Given the description of an element on the screen output the (x, y) to click on. 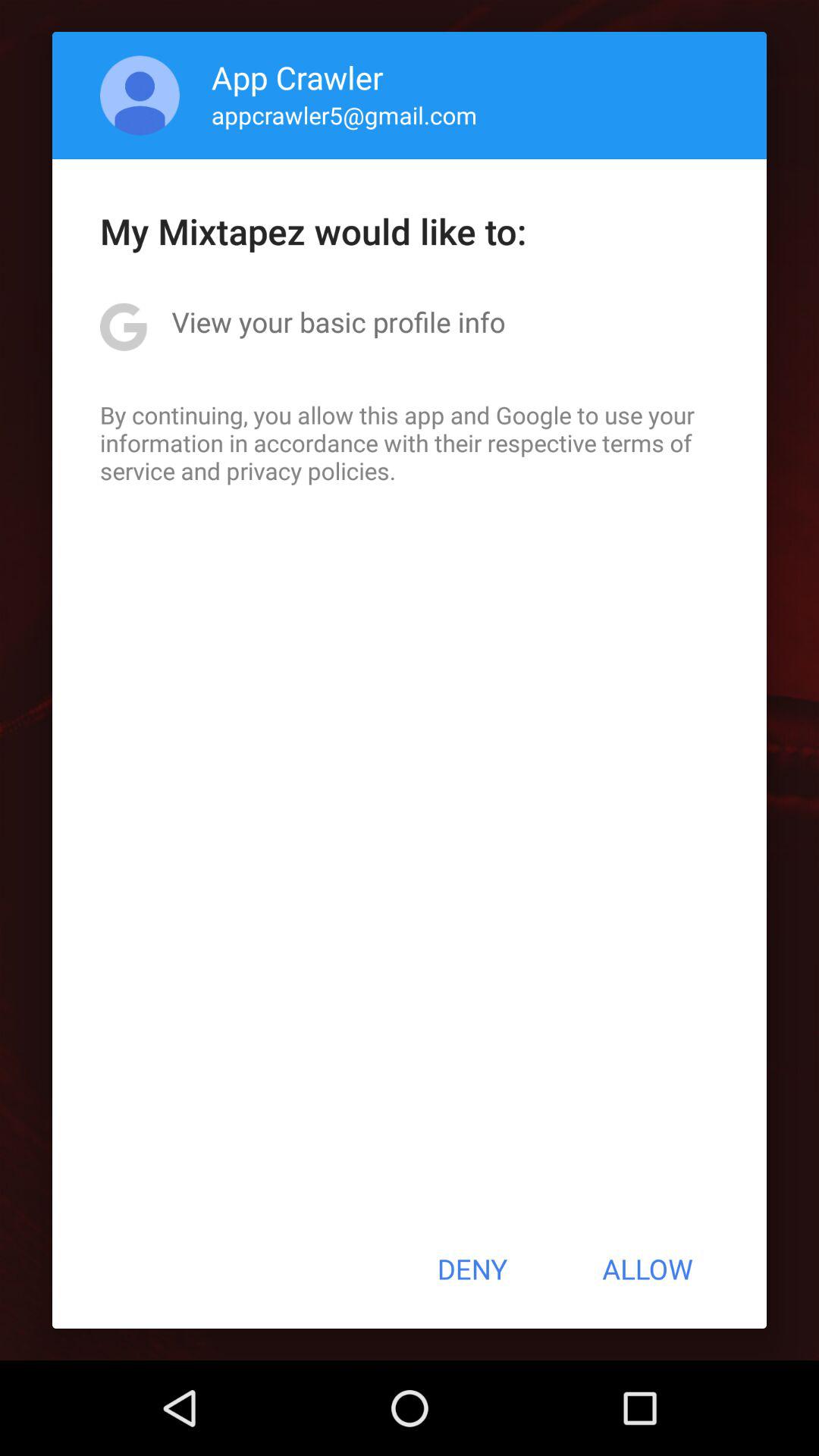
scroll until app crawler icon (297, 76)
